Given the description of an element on the screen output the (x, y) to click on. 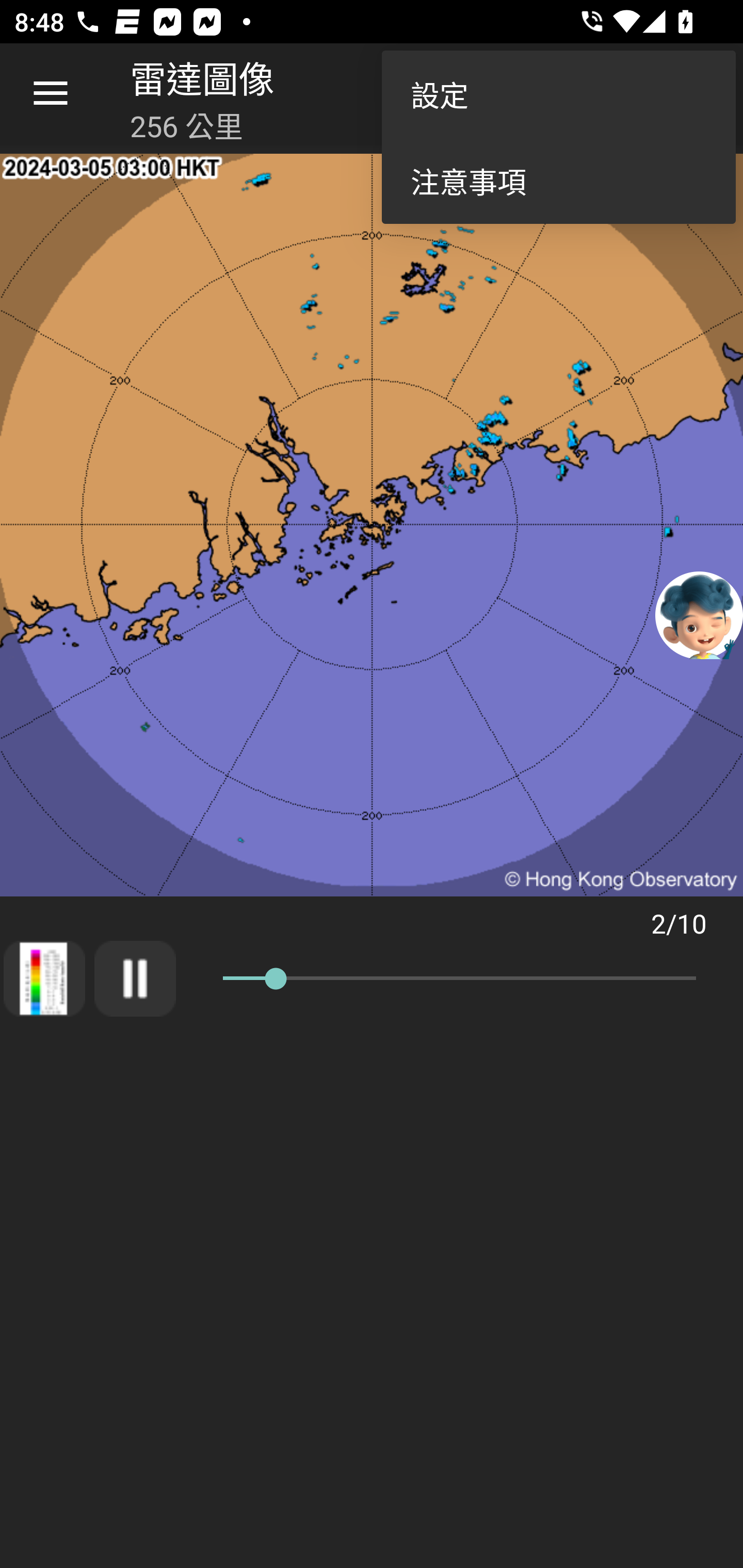
設定 (558, 93)
注意事項 (558, 180)
